Given the description of an element on the screen output the (x, y) to click on. 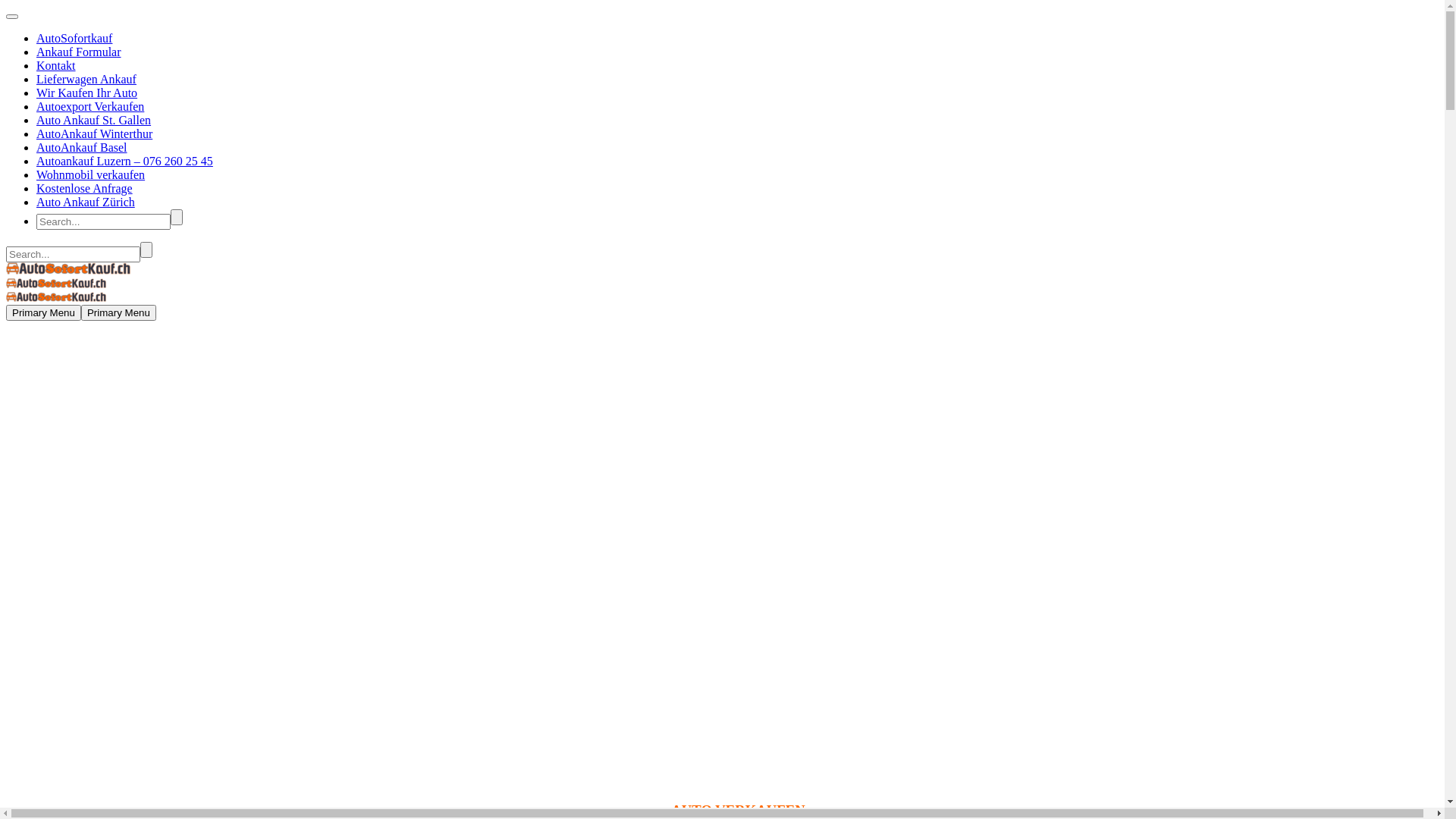
Ankauf Formular Element type: text (78, 51)
Wir Kaufen Ihr Auto Element type: text (86, 92)
Lieferwagen Ankauf Element type: text (86, 78)
Wohnmobil verkaufen Element type: text (90, 174)
Auto Ankauf St. Gallen Element type: text (93, 119)
AutoAnkauf Basel Element type: text (81, 147)
AutoAnkauf Winterthur Element type: text (94, 133)
Primary Menu Element type: text (118, 312)
AutoSofortkauf Element type: text (74, 37)
Primary Menu Element type: text (43, 312)
Kostenlose Anfrage Element type: text (84, 188)
Autoexport Verkaufen Element type: text (90, 106)
Kontakt Element type: text (55, 65)
